Given the description of an element on the screen output the (x, y) to click on. 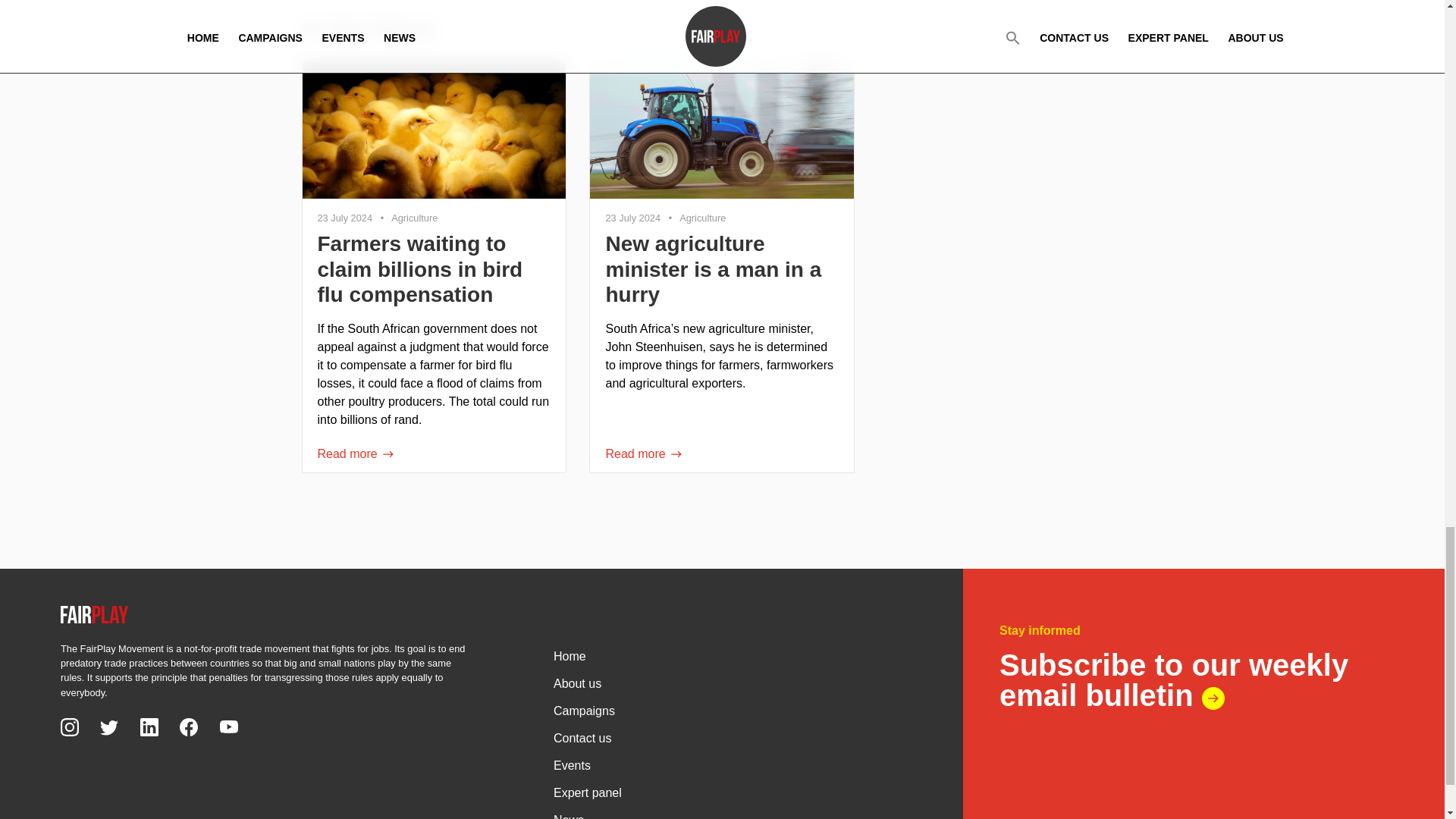
Campaigns (733, 709)
About us (733, 682)
Home (733, 655)
